Given the description of an element on the screen output the (x, y) to click on. 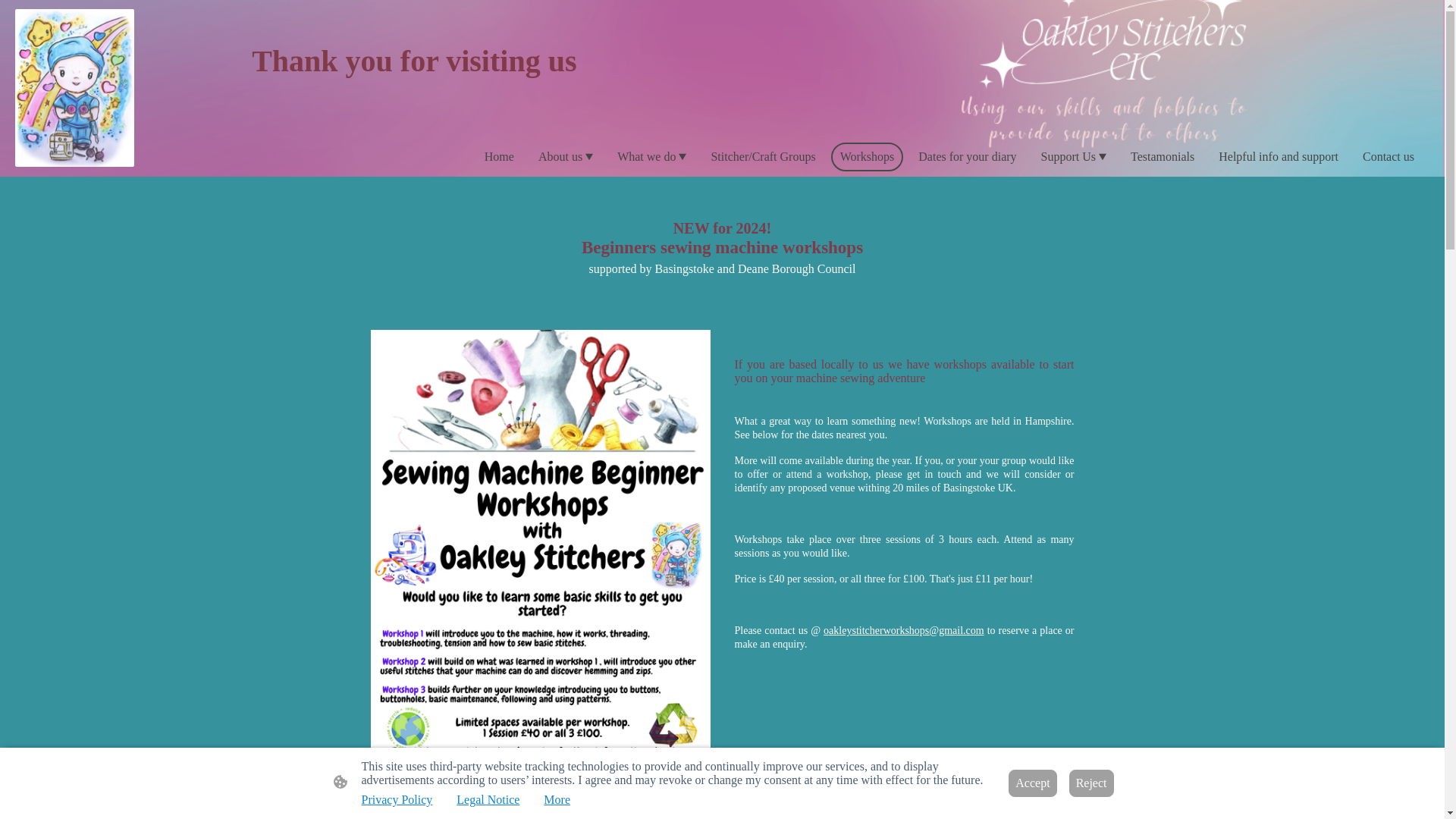
Dates for your diary (967, 156)
Home (499, 156)
Support Us (1073, 156)
About us (565, 156)
Testamonials (1162, 156)
What we do (652, 156)
Workshops (867, 156)
